Given the description of an element on the screen output the (x, y) to click on. 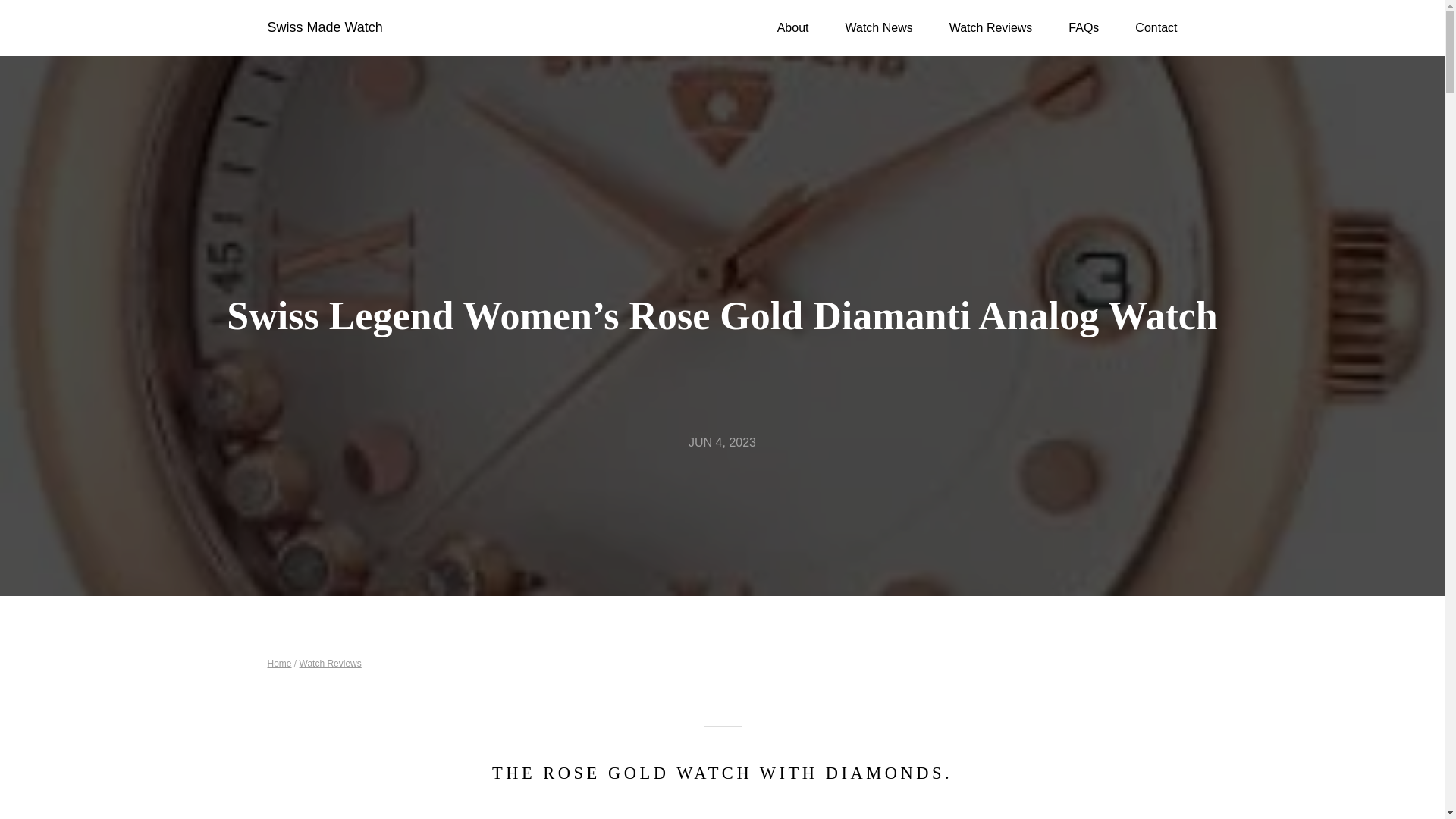
Home (278, 663)
FAQs (1083, 27)
Watch Reviews (330, 663)
Watch News (878, 27)
Contact (1155, 27)
About (793, 27)
Swiss Made Watch (323, 27)
Watch Reviews (990, 27)
